Given the description of an element on the screen output the (x, y) to click on. 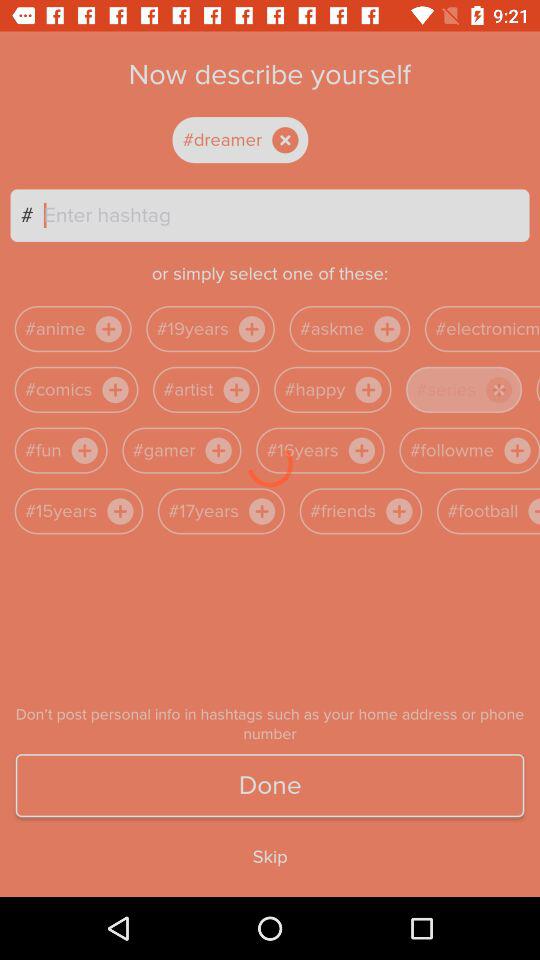
select word (257, 140)
